Given the description of an element on the screen output the (x, y) to click on. 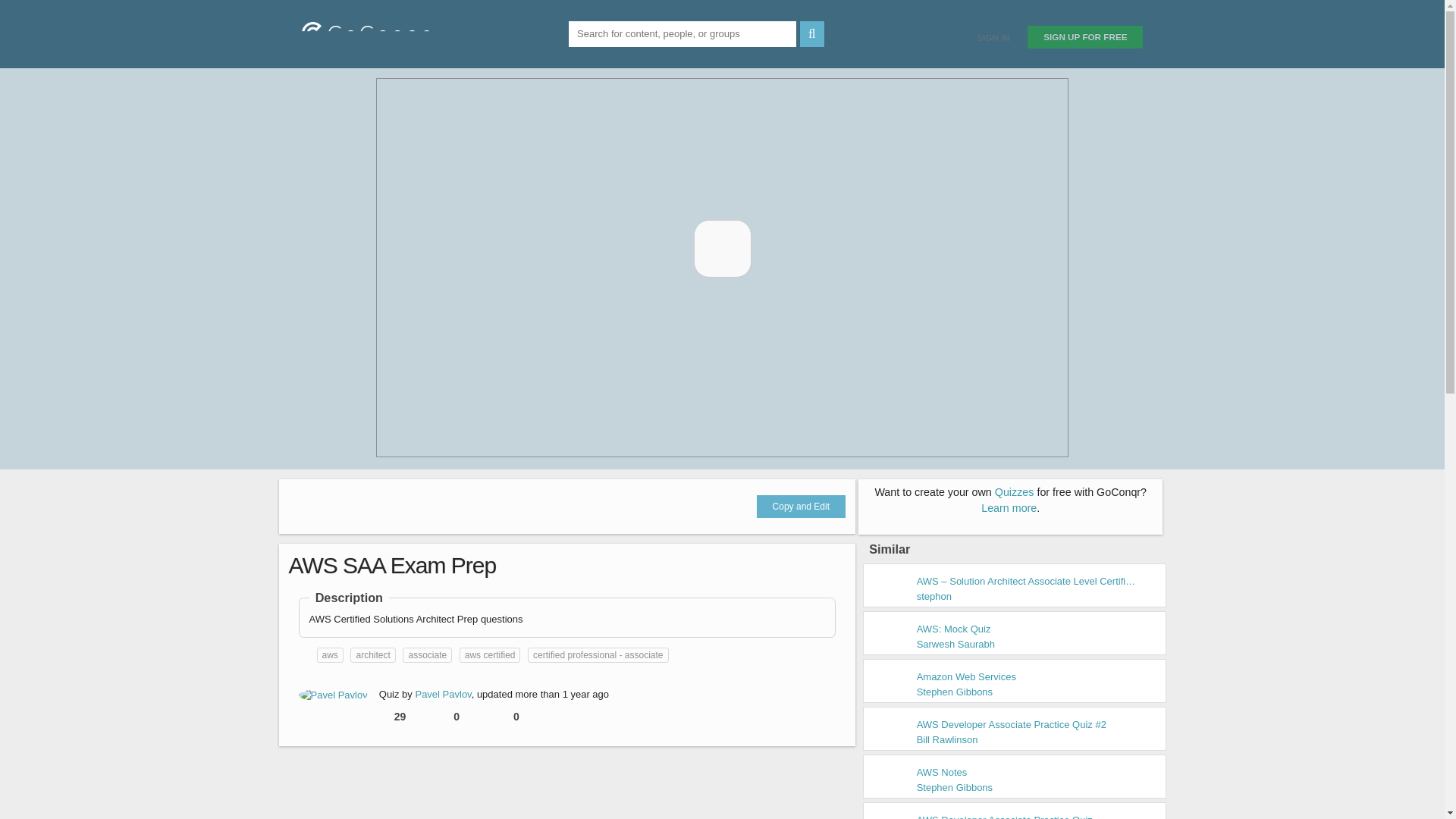
Quizzes (1013, 491)
aws certified (489, 655)
Comments (520, 716)
Pavel Pavlov (333, 694)
certified professional - associate (597, 655)
SIGN IN (992, 37)
Stephen Gibbons (954, 787)
Share on Facebook (305, 505)
SIGN UP FOR FREE (1084, 36)
associate (426, 655)
Sarwesh Saurabh (955, 644)
Views (401, 716)
Copy and Edit (801, 506)
Search (811, 33)
Tags (304, 654)
